Given the description of an element on the screen output the (x, y) to click on. 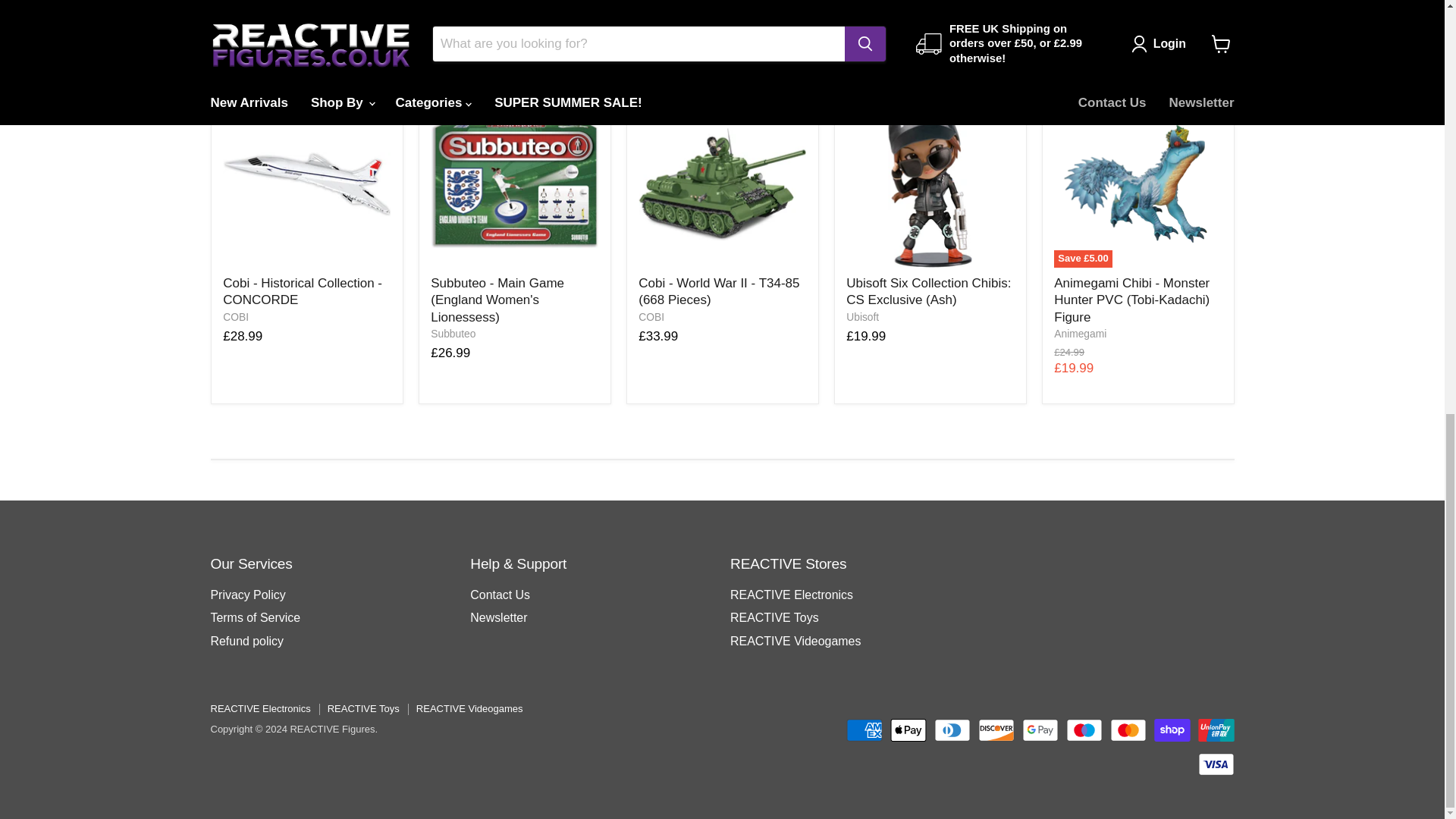
Apple Pay (907, 730)
Subbuteo (453, 333)
COBI (235, 316)
American Express (863, 730)
Google Pay (1040, 730)
Ubisoft (862, 316)
COBI (651, 316)
Discover (996, 730)
Diners Club (952, 730)
Animegami (1080, 333)
